Given the description of an element on the screen output the (x, y) to click on. 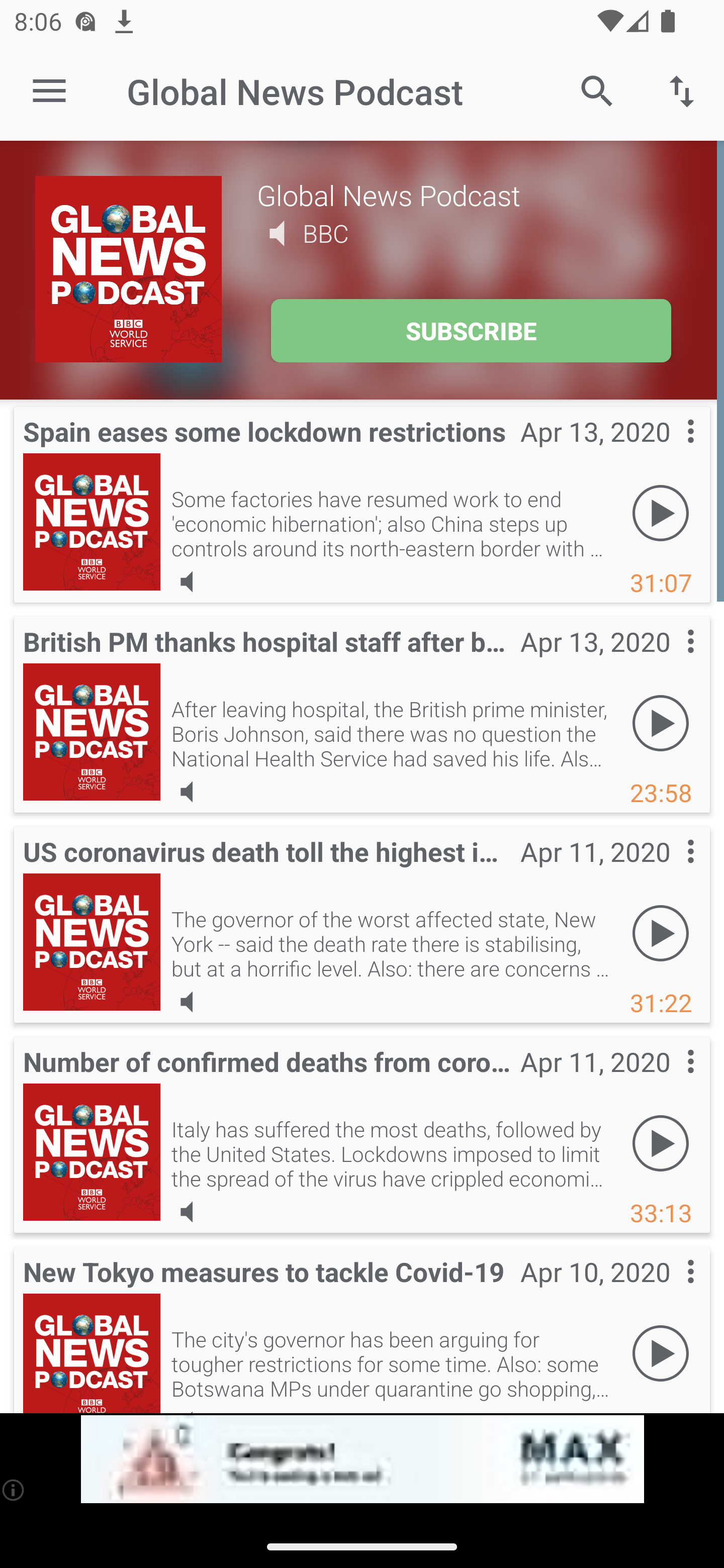
Open navigation sidebar (49, 91)
Search (597, 90)
Sort (681, 90)
SUBSCRIBE (470, 330)
Contextual menu (668, 451)
Play (660, 513)
Contextual menu (668, 661)
Play (660, 723)
Contextual menu (668, 870)
Play (660, 933)
Contextual menu (668, 1080)
Play (660, 1143)
Contextual menu (668, 1290)
Play (660, 1353)
app-monetization (362, 1459)
(i) (14, 1489)
